Given the description of an element on the screen output the (x, y) to click on. 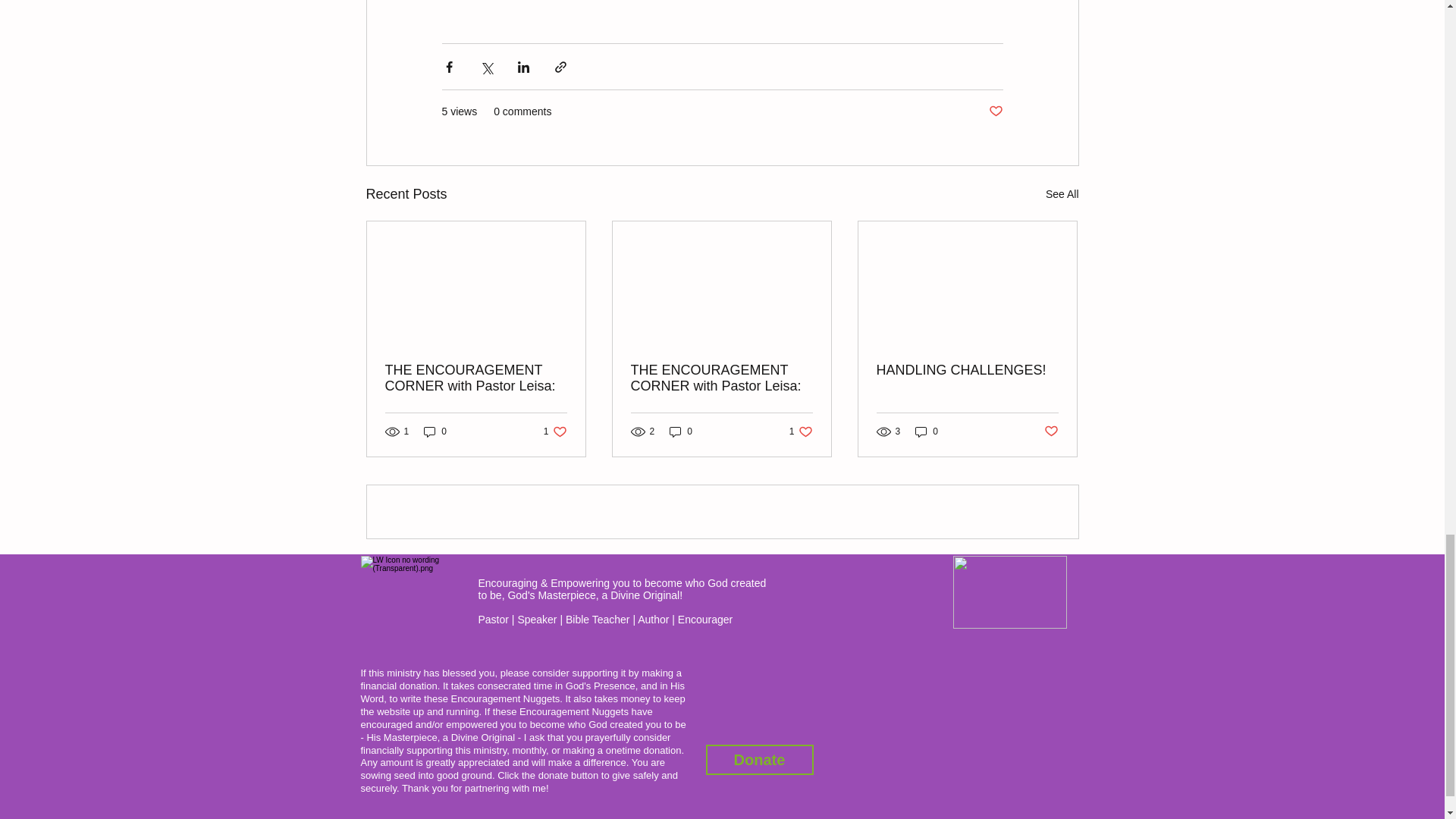
HANDLING CHALLENGES! (967, 370)
See All (1061, 194)
THE ENCOURAGEMENT CORNER with Pastor Leisa: (721, 377)
Post not marked as liked (995, 111)
0 (681, 431)
0 (435, 431)
THE ENCOURAGEMENT CORNER with Pastor Leisa: (476, 377)
Donate (758, 759)
Post not marked as liked (1050, 431)
0 (800, 431)
